Given the description of an element on the screen output the (x, y) to click on. 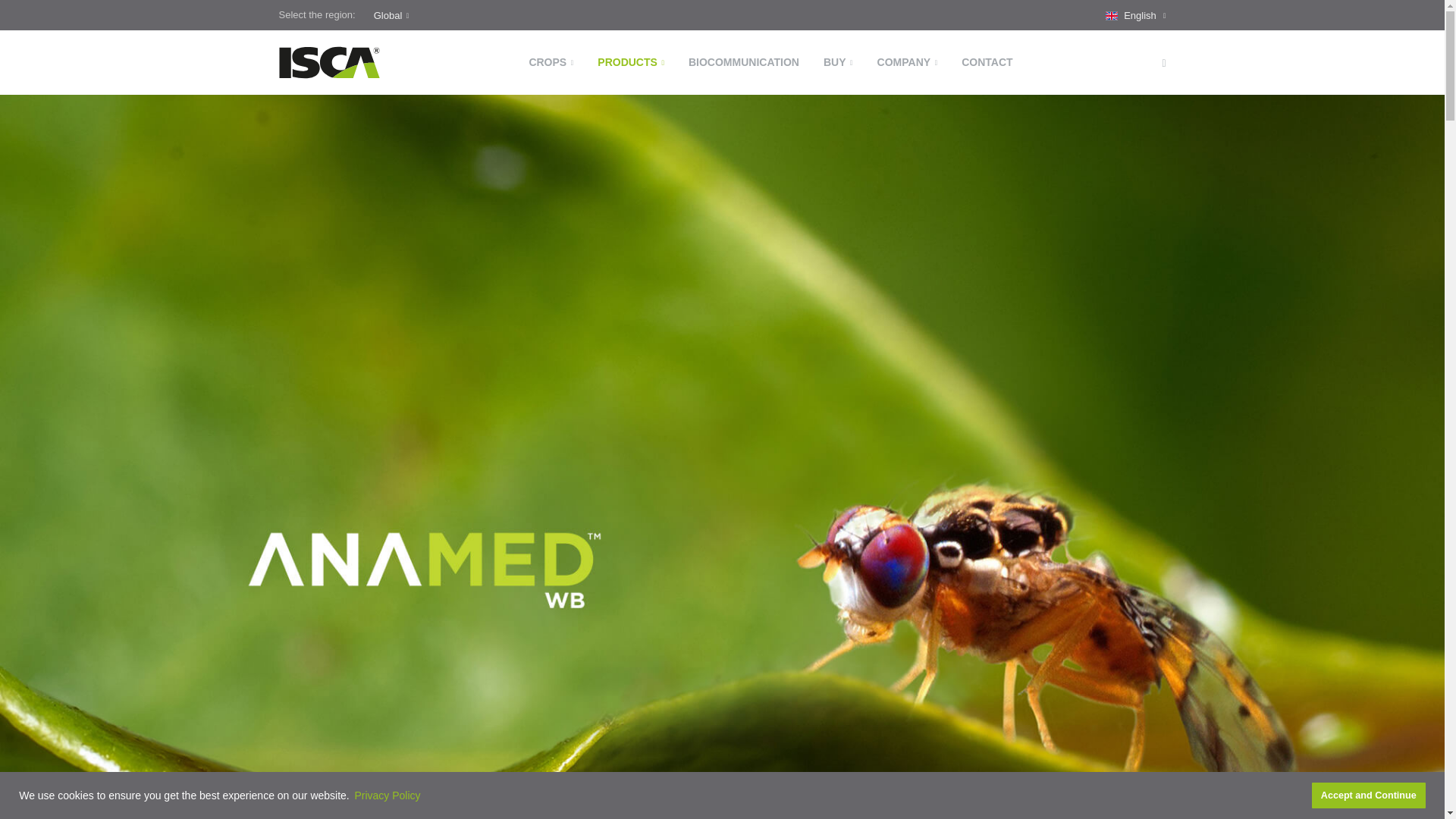
PRODUCTS (631, 62)
Privacy Policy (387, 794)
CROPS (550, 62)
BIOCOMMUNICATION (743, 62)
English (1135, 15)
Accept and Continue (1368, 795)
BUY (837, 62)
Global (391, 15)
